Given the description of an element on the screen output the (x, y) to click on. 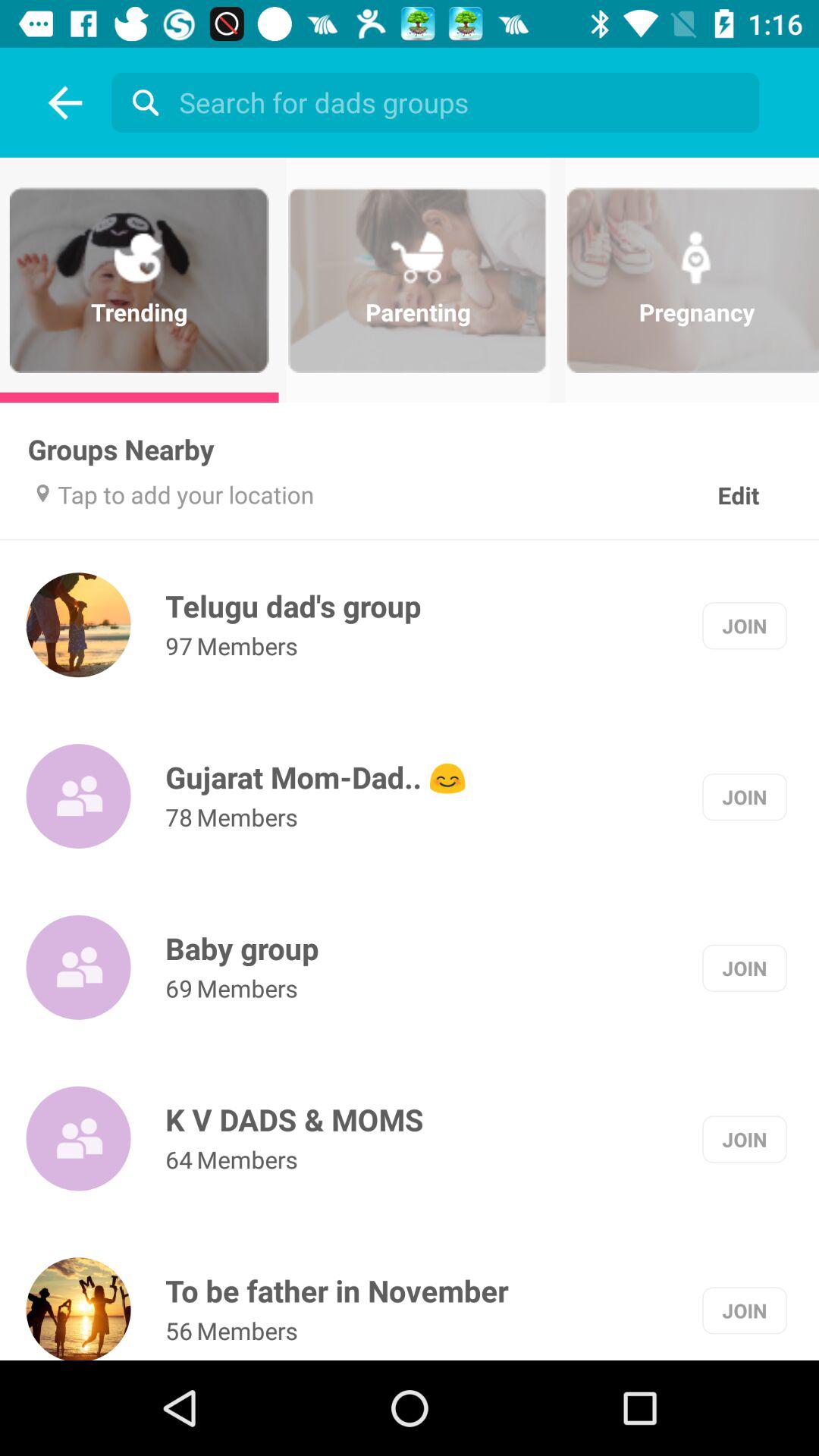
turn on the icon next to the members icon (178, 816)
